Given the description of an element on the screen output the (x, y) to click on. 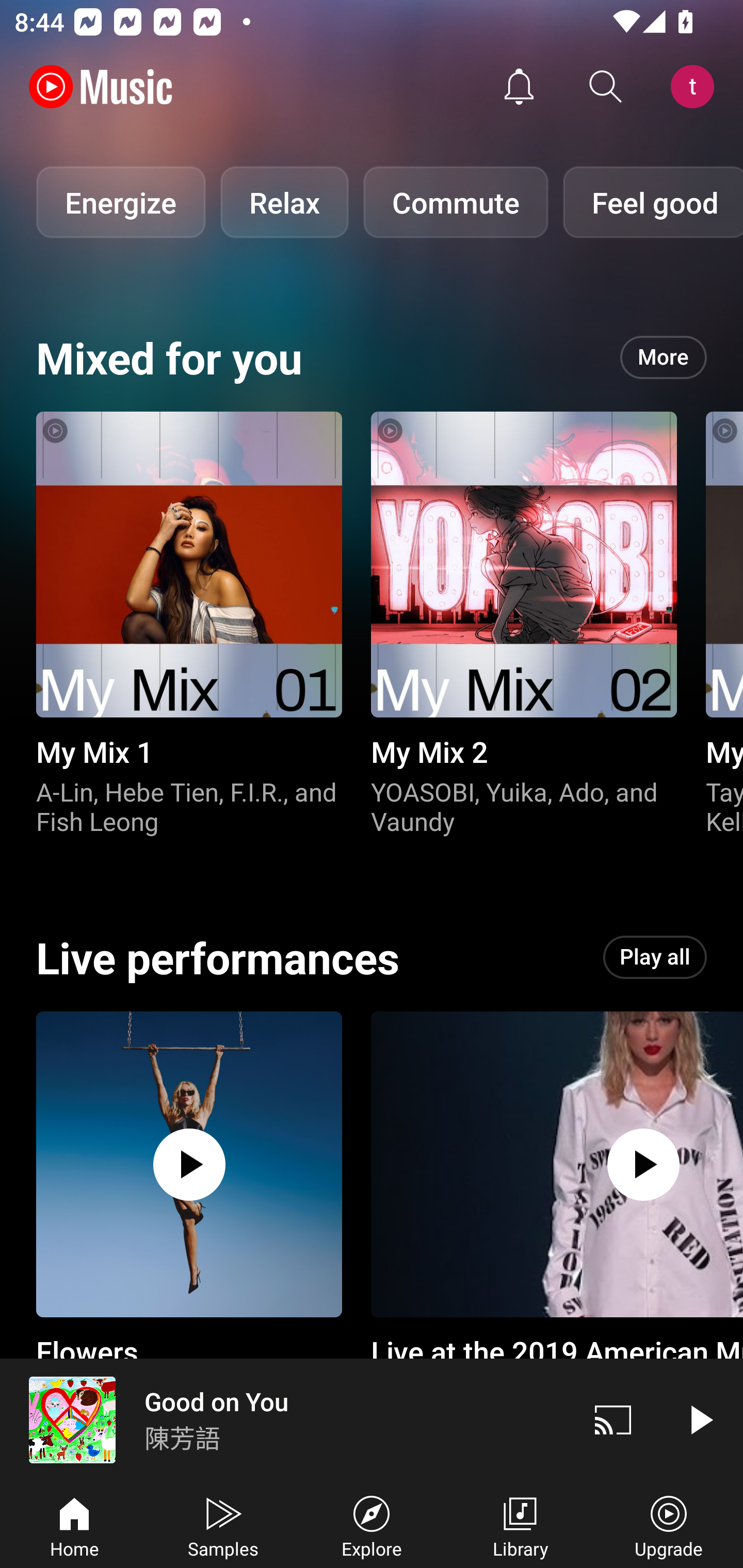
Activity feed (518, 86)
Search (605, 86)
Account (696, 86)
Good on You 陳芳語 (284, 1419)
Cast. Disconnected (612, 1419)
Play video (699, 1419)
Home (74, 1524)
Samples (222, 1524)
Explore (371, 1524)
Library (519, 1524)
Upgrade (668, 1524)
